Given the description of an element on the screen output the (x, y) to click on. 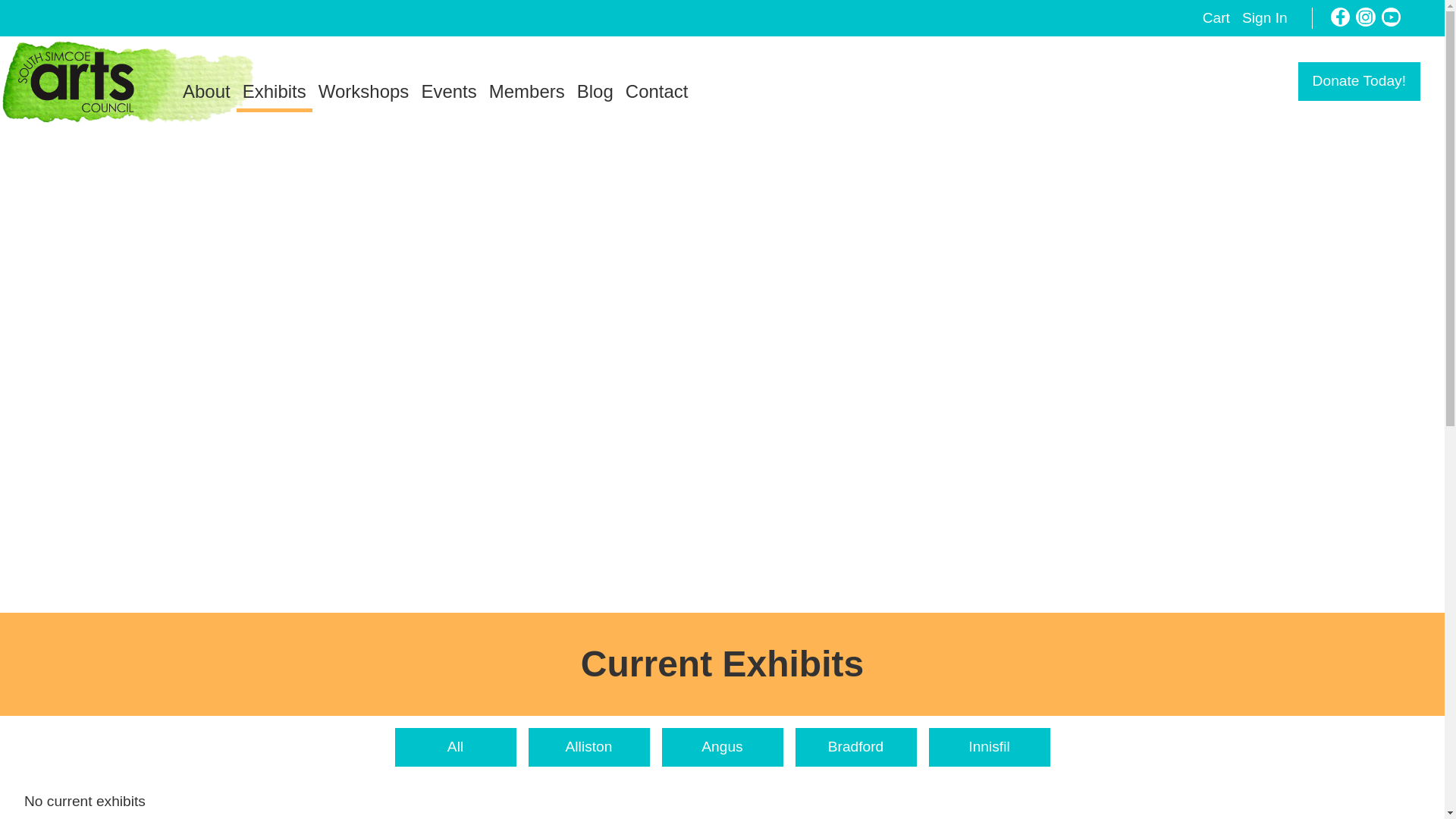
Members (526, 91)
Workshops (363, 91)
About (205, 91)
All (454, 747)
Donate Today! (1359, 81)
Angus (722, 747)
Innisfil (988, 747)
Alliston (588, 747)
Contact (657, 91)
Blog (595, 91)
Sign In (1264, 17)
Bradford (854, 747)
Exhibits (274, 93)
Events (447, 91)
Cart (1216, 17)
